Given the description of an element on the screen output the (x, y) to click on. 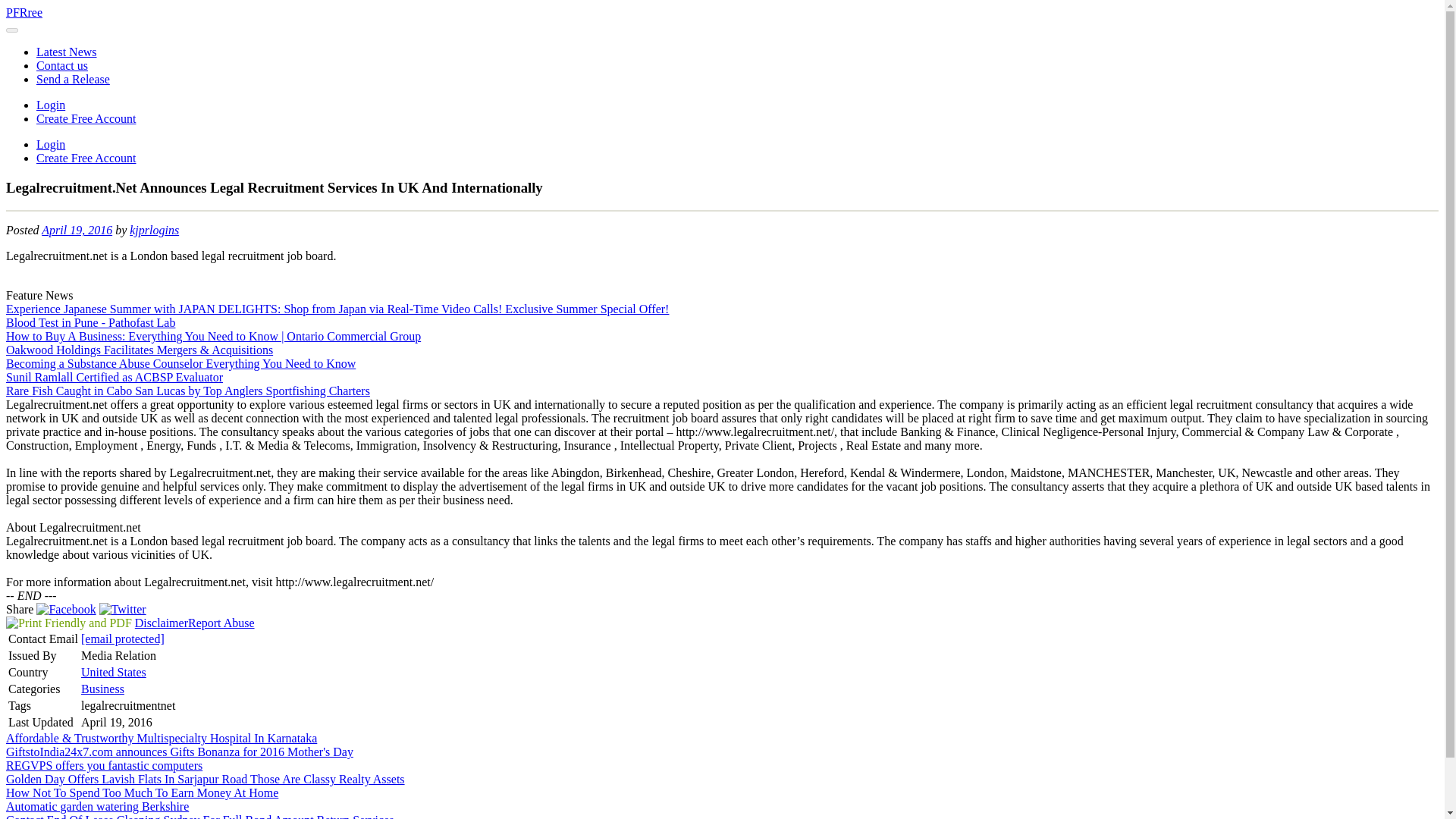
Automatic garden watering Berkshire (97, 806)
kjprlogins (154, 229)
Printer Friendly and PDF (68, 622)
How Not To Spend Too Much To Earn Money At Home (141, 792)
Login (50, 104)
Blood Test in Pune - Pathofast Lab (89, 322)
United States (114, 671)
April 19, 2016 (77, 229)
Contact us (61, 65)
Report Abuse (220, 622)
